Given the description of an element on the screen output the (x, y) to click on. 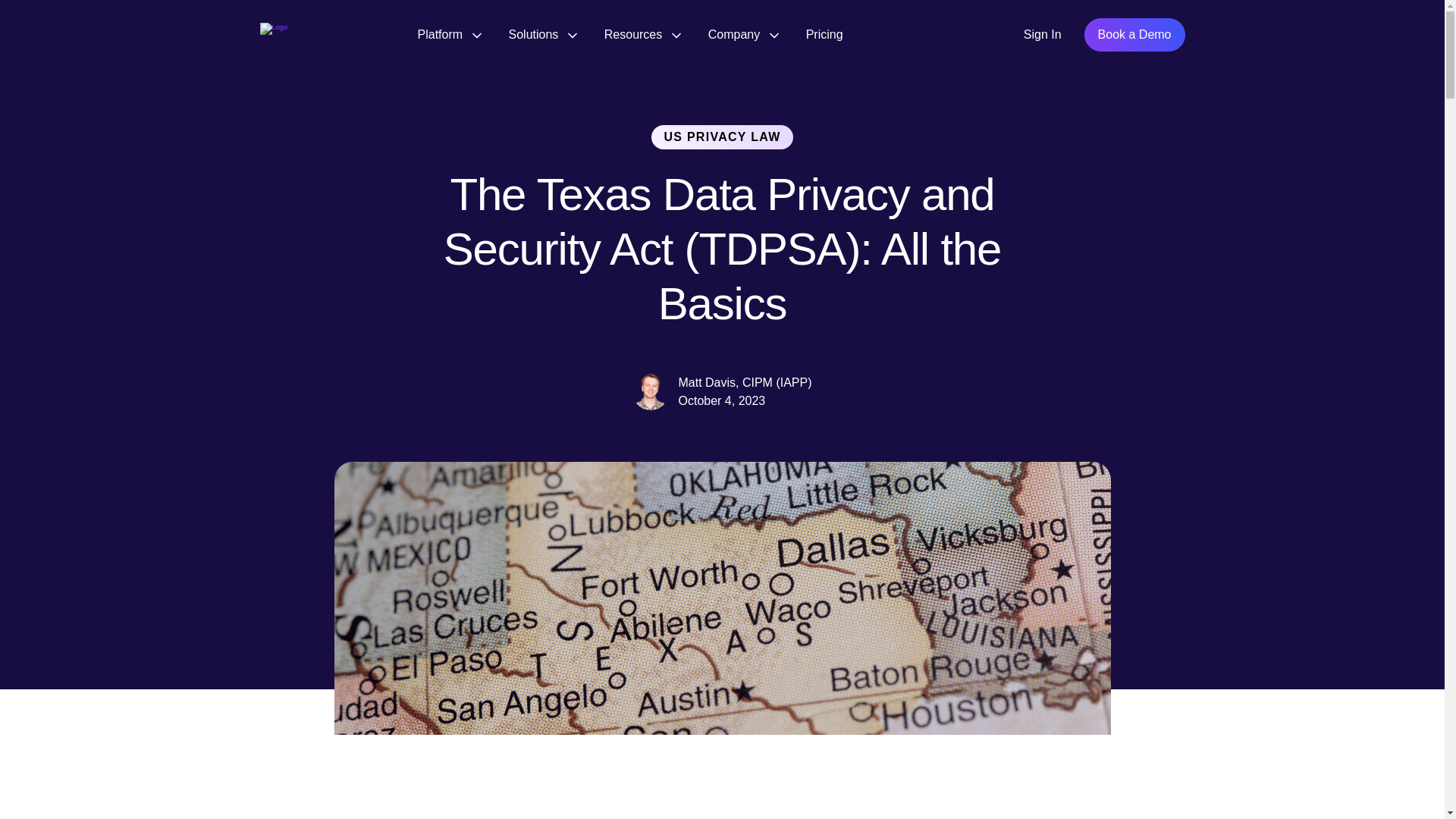
Solutions (542, 34)
Company (742, 34)
Resources (642, 34)
Platform (448, 34)
